Given the description of an element on the screen output the (x, y) to click on. 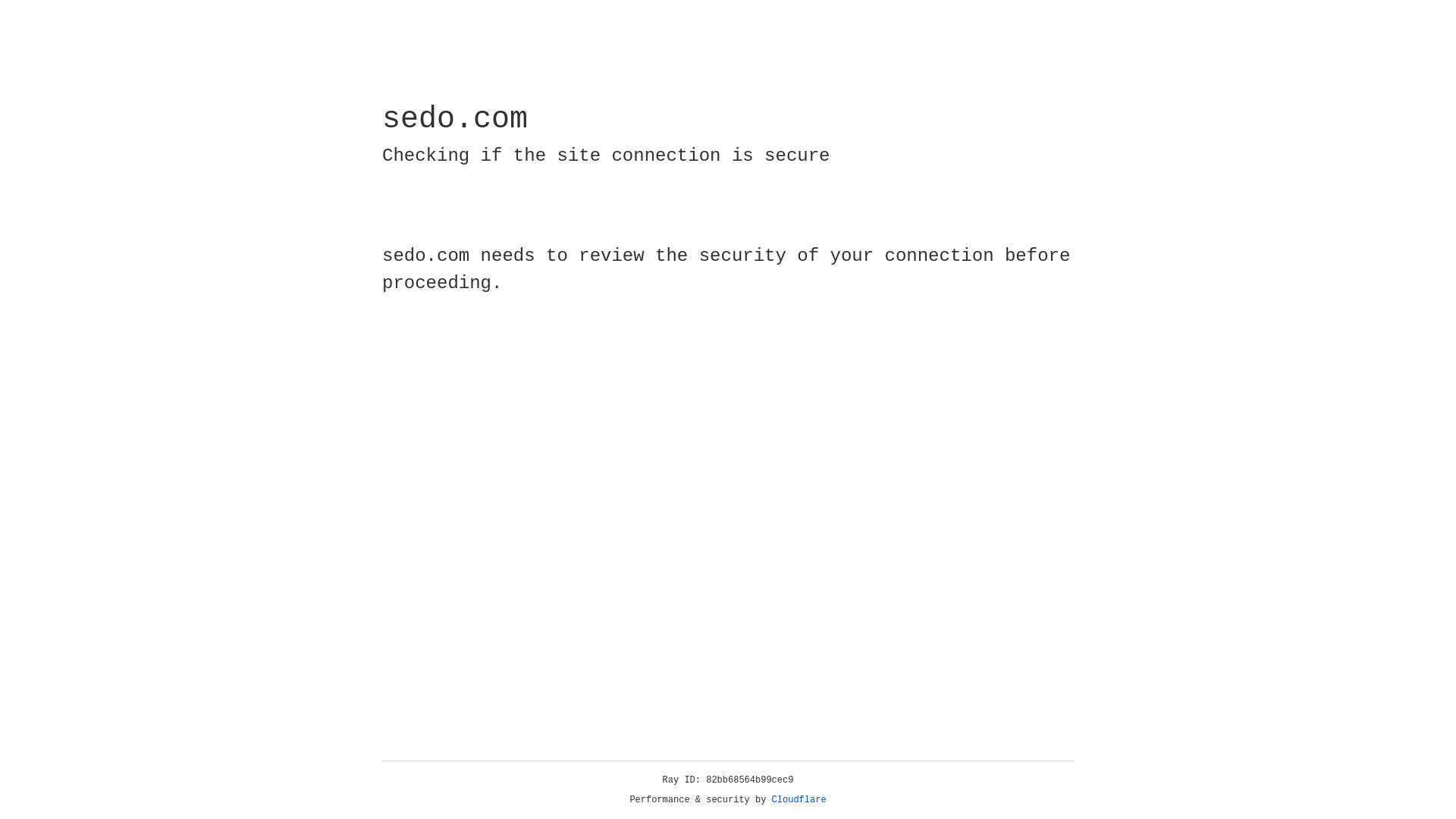
Cloudflare Element type: text (798, 799)
